Given the description of an element on the screen output the (x, y) to click on. 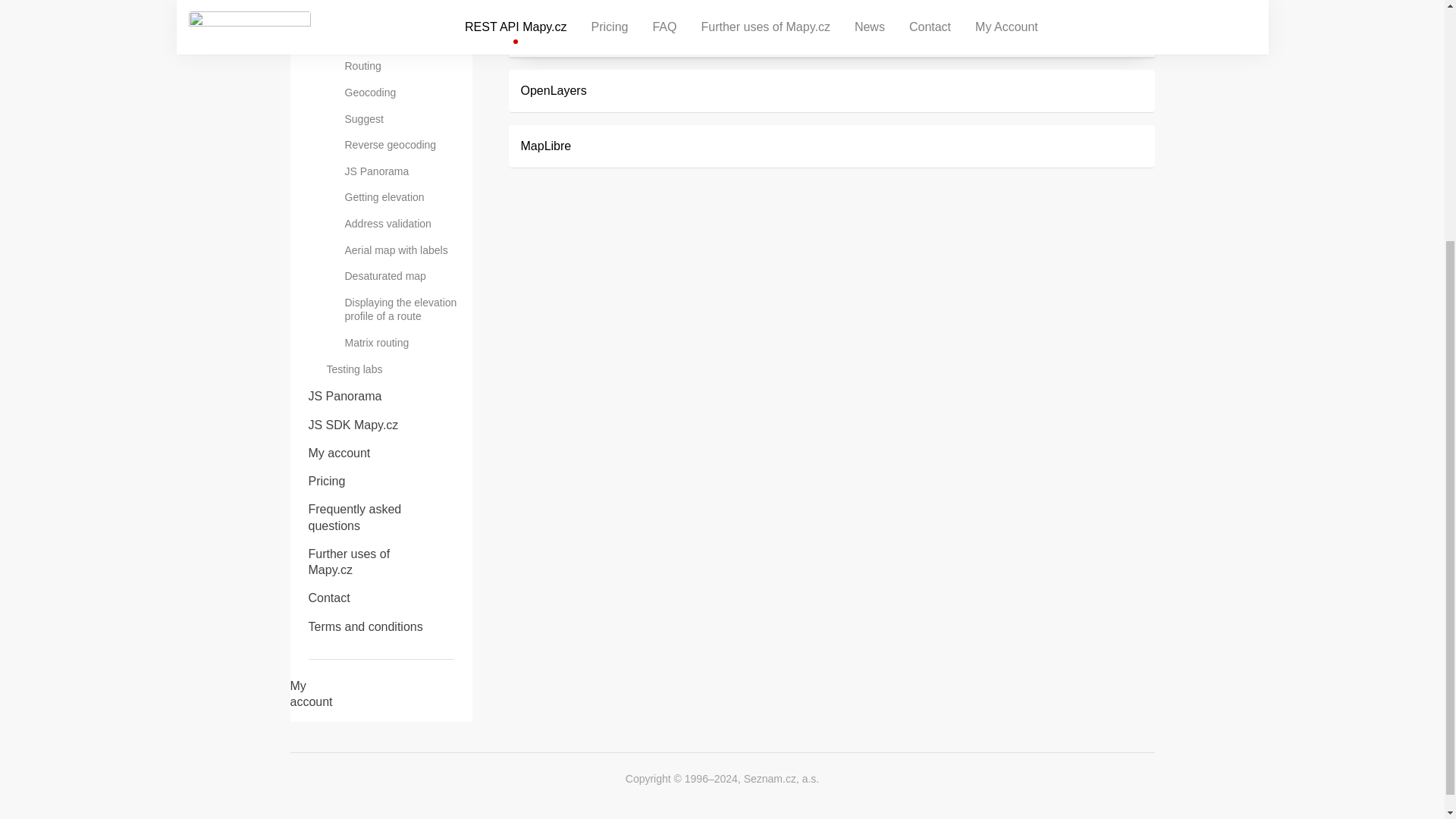
Routing (398, 66)
Static maps (398, 40)
Suggest (398, 119)
Address validation (398, 223)
Switching map layers (398, 0)
Geocoding (398, 92)
Reverse geocoding (398, 144)
JS Panorama (398, 171)
Getting elevation (398, 197)
Aerial map with labels (398, 250)
Markers and geometries (398, 13)
Desaturated map (398, 275)
